Given the description of an element on the screen output the (x, y) to click on. 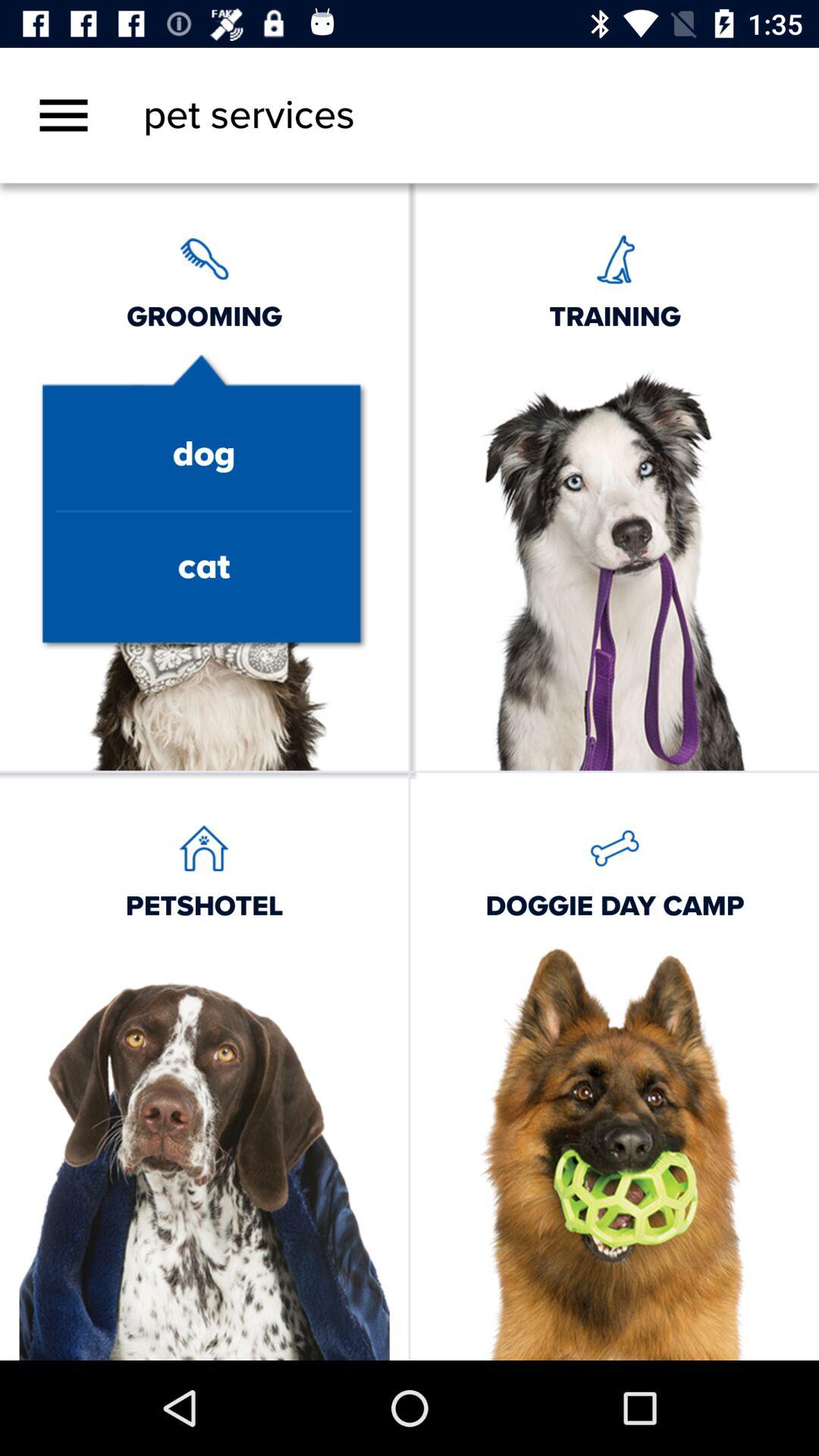
click dog icon (203, 454)
